Given the description of an element on the screen output the (x, y) to click on. 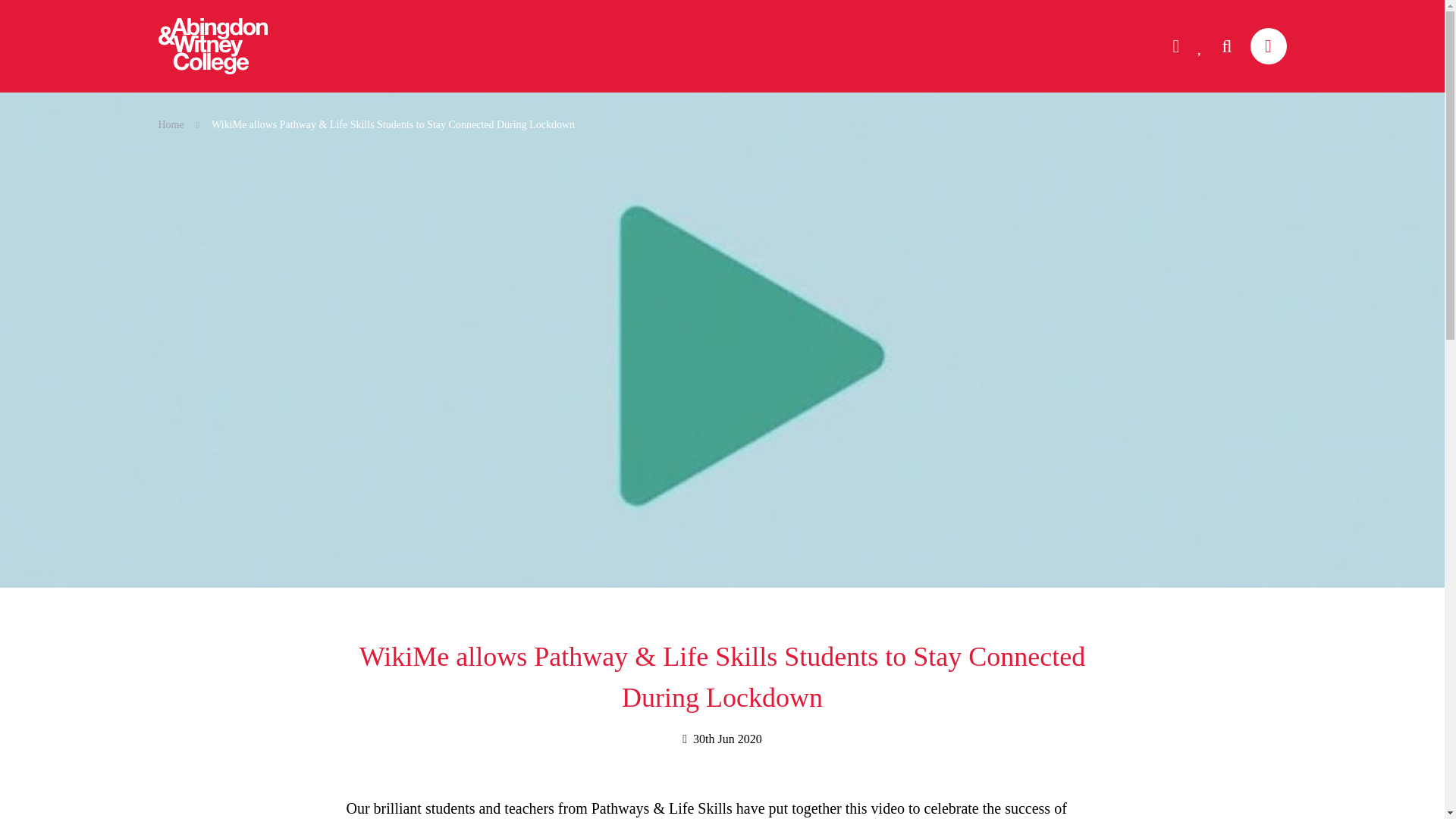
Main Menu (1267, 45)
Course Shortlist (1200, 45)
Search (1226, 45)
